Given the description of an element on the screen output the (x, y) to click on. 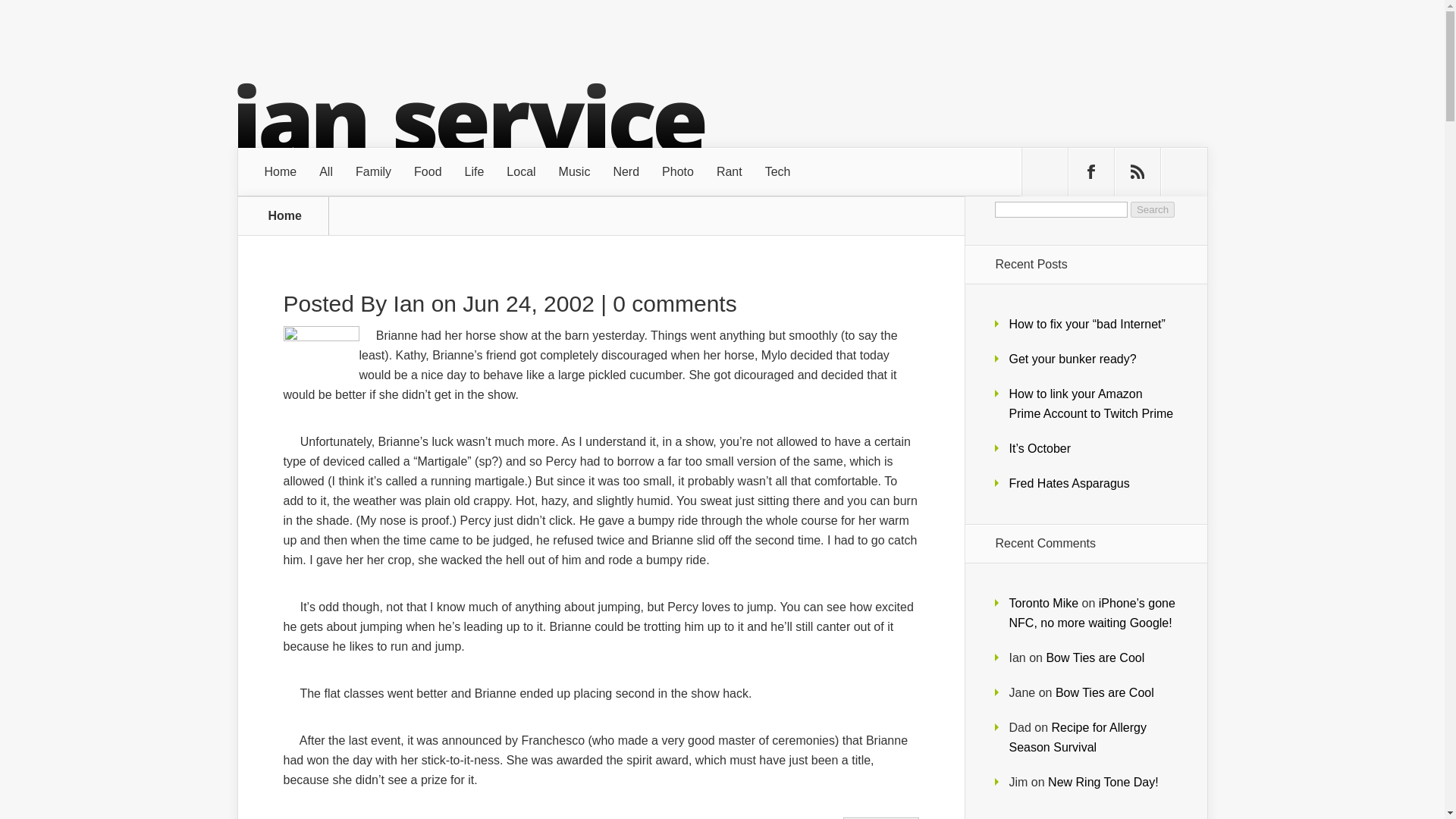
Toronto Mike (1043, 603)
Recipe for Allergy Season Survival (1077, 737)
New Ring Tone Day! (1103, 781)
Ian (409, 303)
Nerd (625, 172)
Rant (729, 172)
Posts by Ian (409, 303)
Home (280, 172)
Subscribe To Rss Feed (1137, 172)
Search (1152, 209)
Tech (778, 172)
How to link your Amazon Prime Account to Twitch Prime (1091, 403)
0 comments (674, 303)
Follow us on Twitter (1044, 172)
Follow us on Facebook (1090, 172)
